Given the description of an element on the screen output the (x, y) to click on. 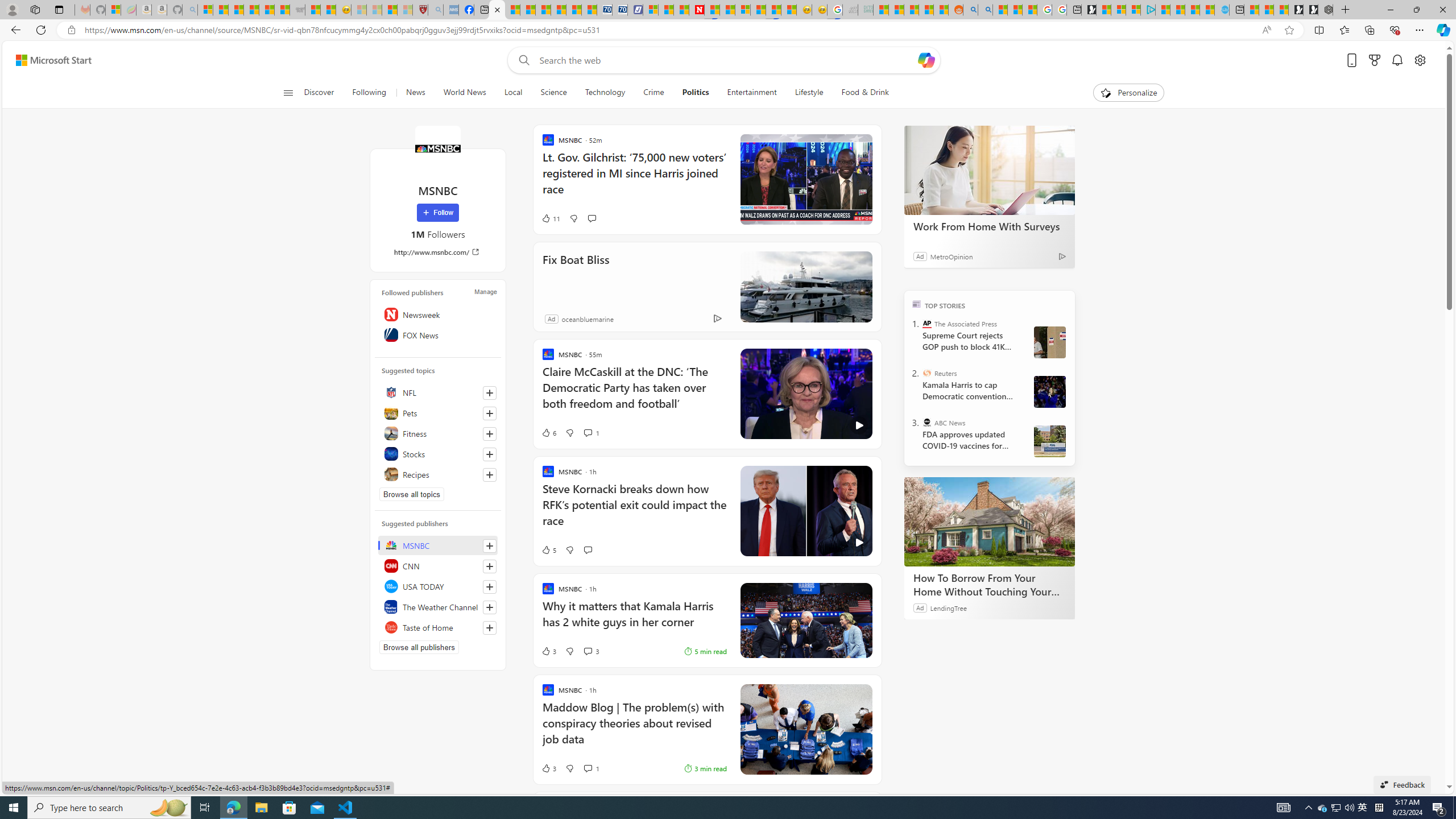
Web search (520, 60)
Utah sues federal government - Search (984, 9)
Local (512, 92)
Lifestyle (809, 92)
Play Free Online Games | Games from Microsoft Start (1310, 9)
MSNBC (437, 545)
Entertainment (751, 92)
Discover (319, 92)
Address and search bar (669, 29)
Fitness (437, 433)
Start the conversation (587, 549)
Local (513, 92)
